Given the description of an element on the screen output the (x, y) to click on. 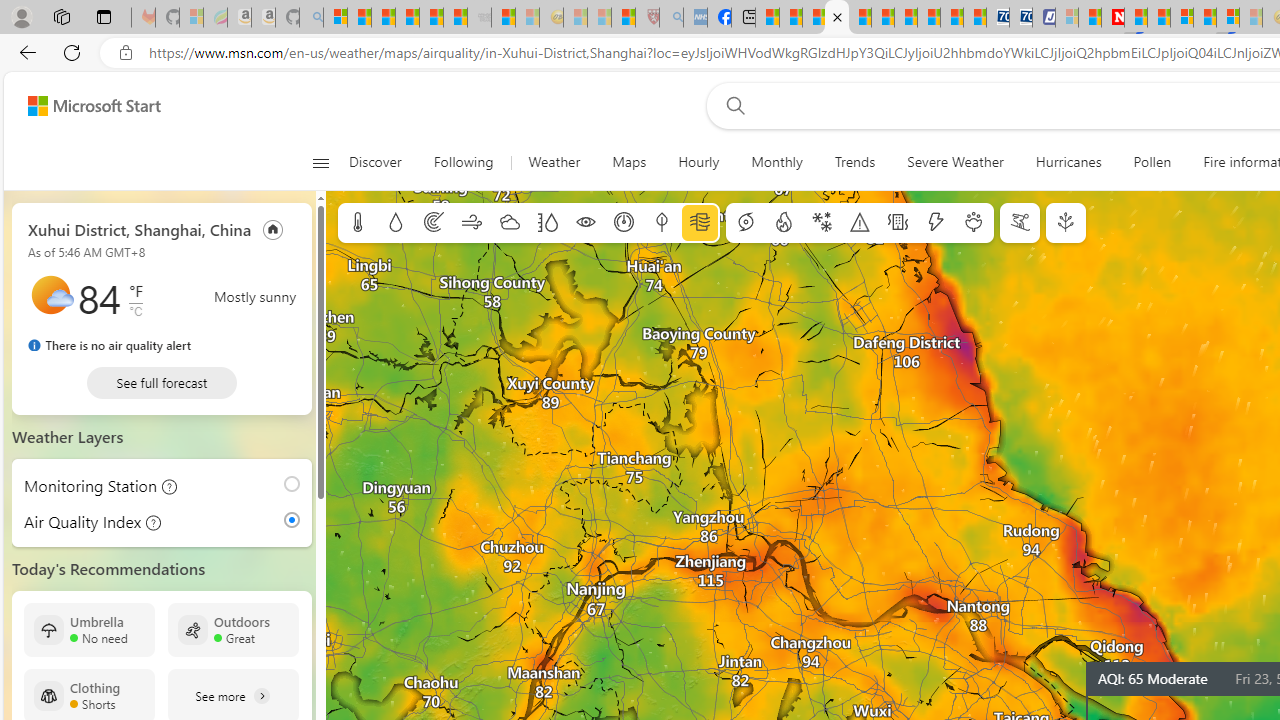
Dew point (661, 223)
